Given the description of an element on the screen output the (x, y) to click on. 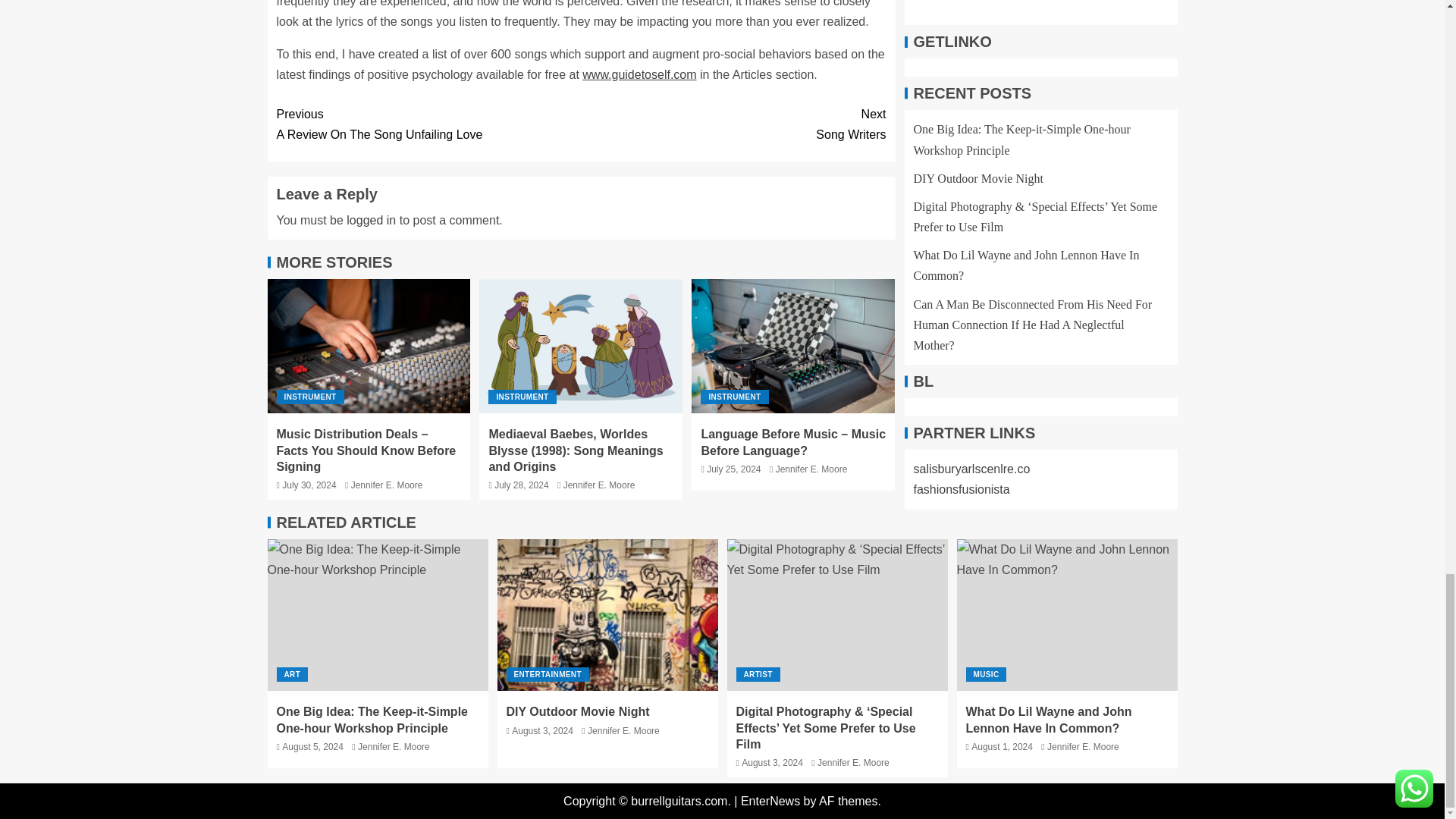
INSTRUMENT (734, 396)
INSTRUMENT (309, 396)
logged in (371, 219)
One Big Idea: The Keep-it-Simple One-hour Workshop Principle (376, 614)
www.guidetoself.com (638, 74)
What Do Lil Wayne and John Lennon Have In Common? (428, 124)
Jennifer E. Moore (1066, 614)
Jennifer E. Moore (598, 484)
DIY Outdoor Movie Night (386, 484)
INSTRUMENT (732, 124)
